Given the description of an element on the screen output the (x, y) to click on. 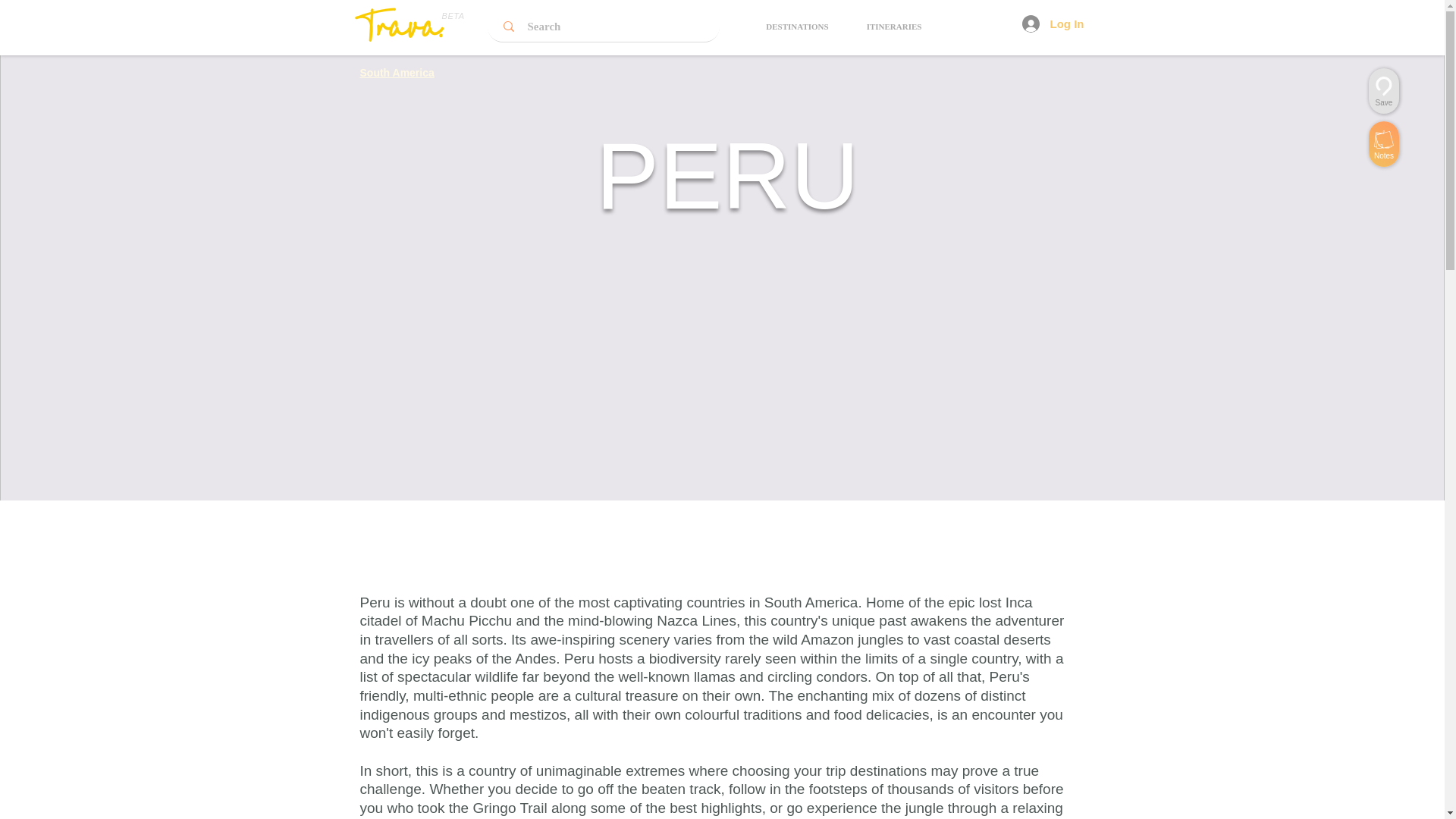
South America (396, 72)
BETA (452, 15)
ITINERARIES (893, 26)
Log In (1052, 23)
